Given the description of an element on the screen output the (x, y) to click on. 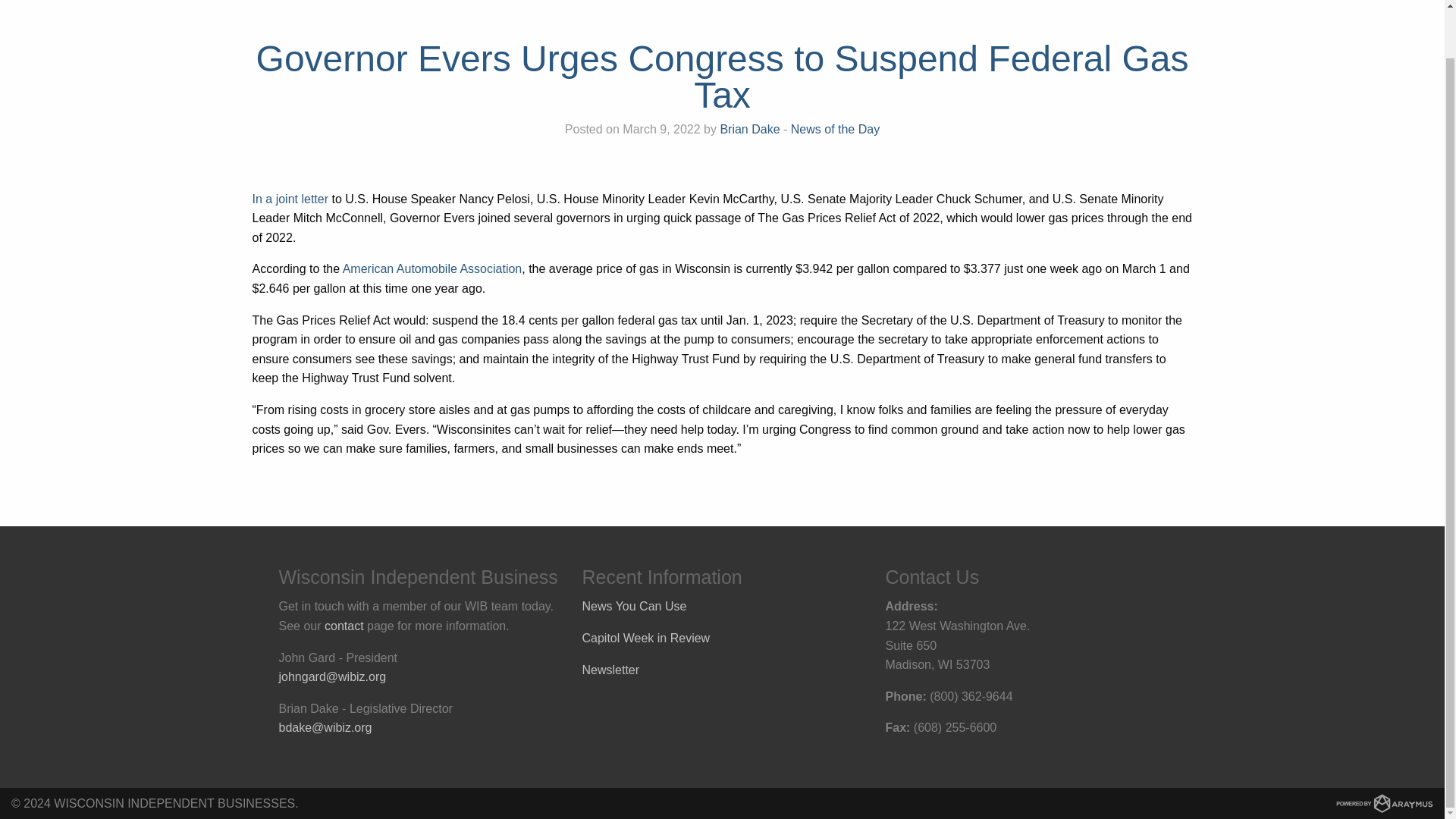
Brian Dake (748, 128)
American Automobile Association (432, 268)
News of the Day (834, 128)
In a joint letter (290, 198)
News You Can Use (634, 605)
Newsletter (611, 668)
Capitol Week in Review (646, 637)
contact (344, 625)
Posts by Brian Dake (748, 128)
